Given the description of an element on the screen output the (x, y) to click on. 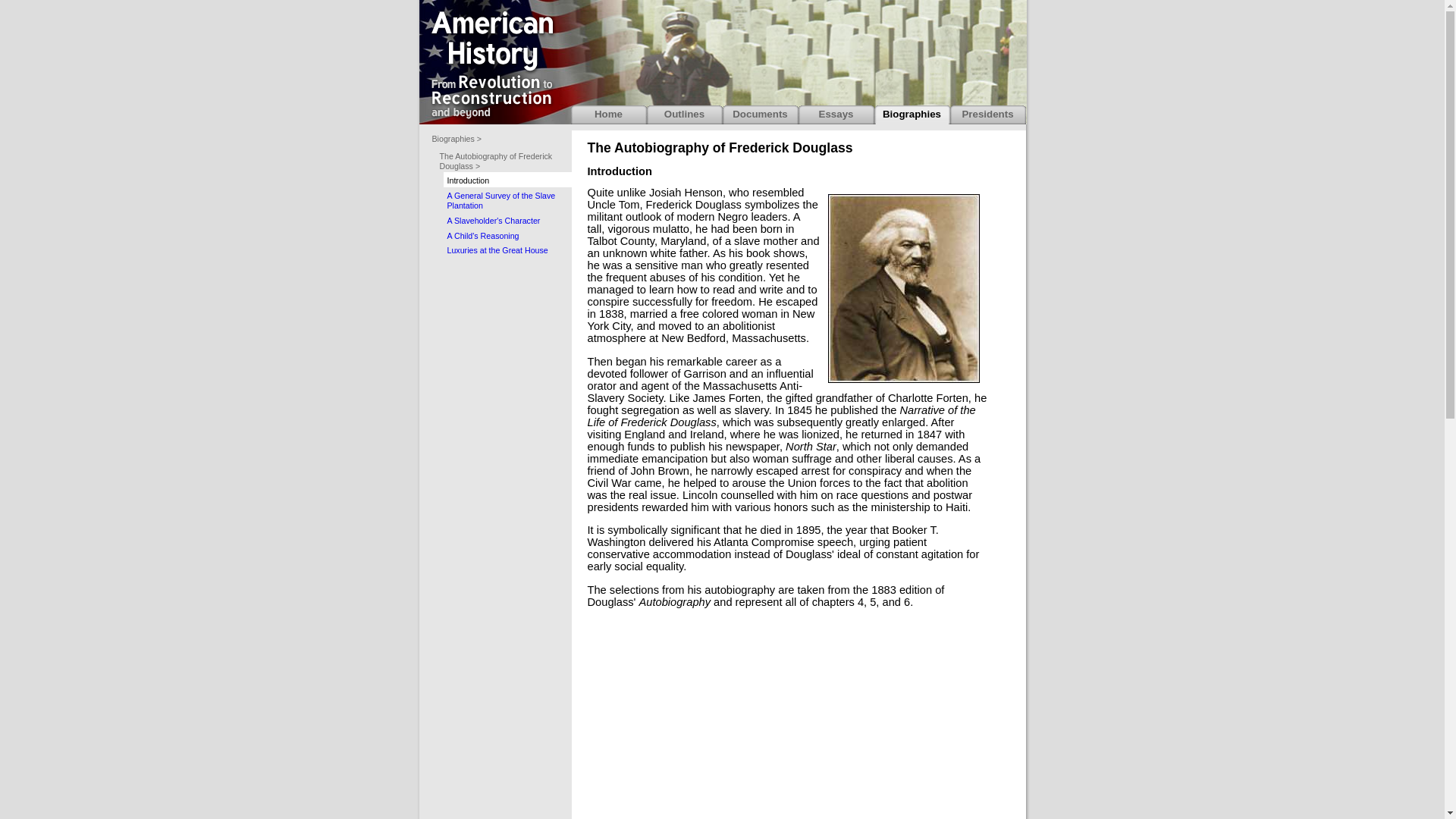
Introduction (506, 179)
Presidents (987, 114)
A Slaveholder's Character (506, 219)
Home (608, 114)
Outlines (684, 114)
Biographies (911, 114)
A General Survey of the Slave Plantation (506, 199)
Luxuries at the Great House (506, 249)
A Child's Reasoning (506, 234)
Essays (835, 114)
Documents (759, 114)
